Given the description of an element on the screen output the (x, y) to click on. 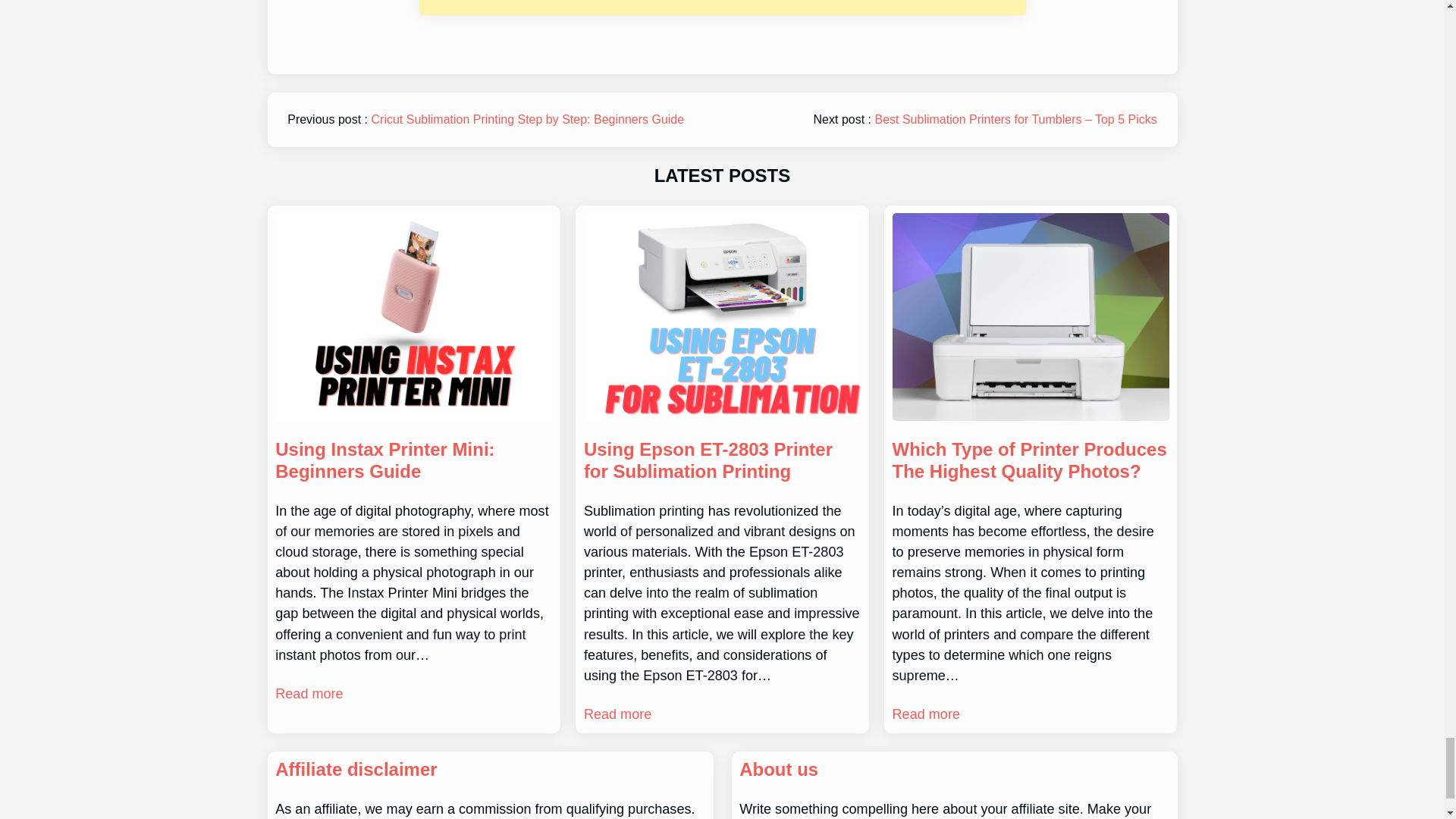
Read more (308, 693)
Cricut Sublimation Printing Step by Step: Beginners Guide (527, 119)
Using Epson ET-2803 Printer for Sublimation Printing (721, 460)
Read more (925, 714)
Using Instax Printer Mini: Beginners Guide (413, 460)
Which Type of Printer Produces The Highest Quality Photos? (1030, 460)
Read more (616, 714)
